Given the description of an element on the screen output the (x, y) to click on. 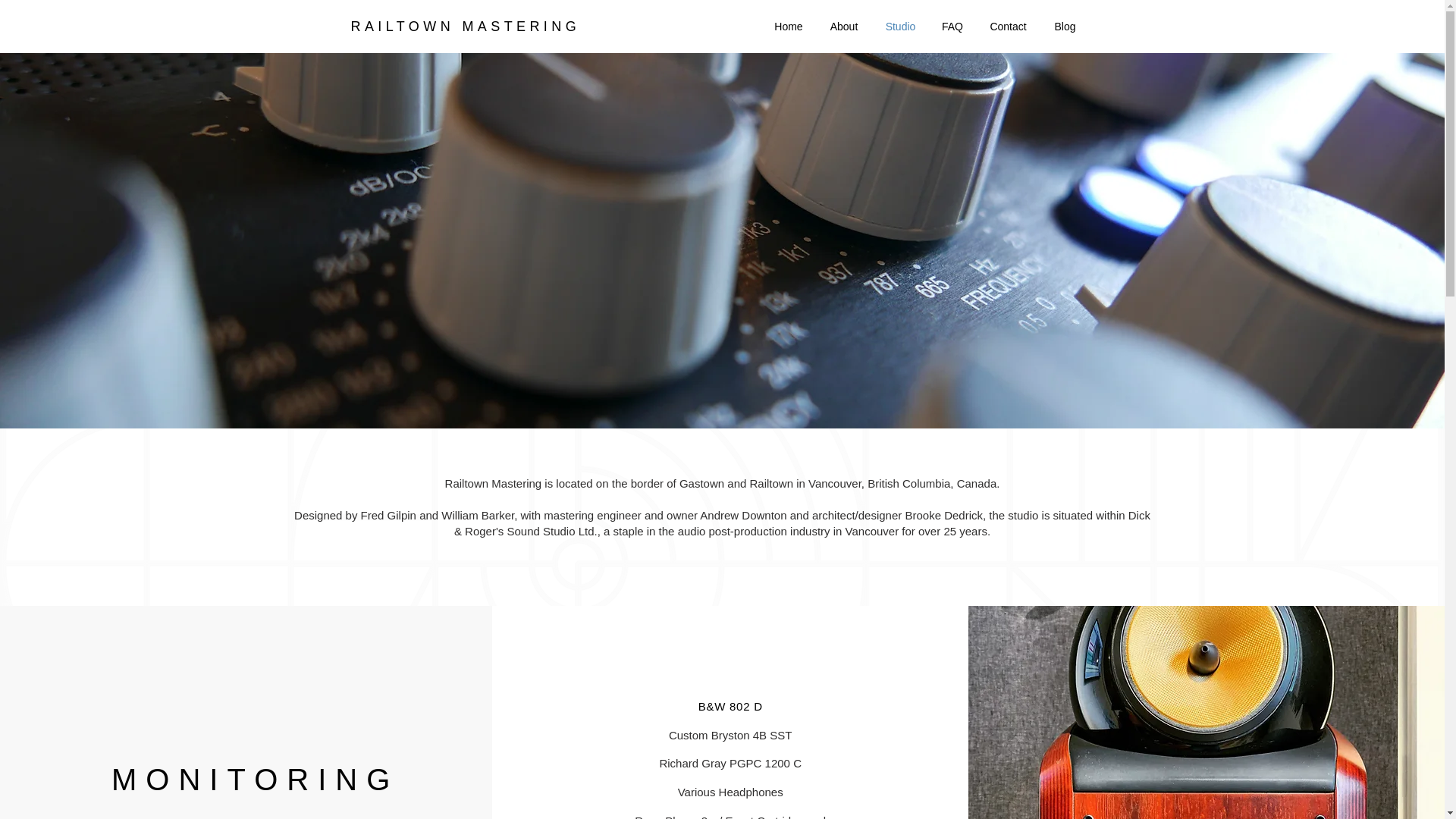
RAILTOWN MASTERING (464, 26)
FAQ (952, 25)
Blog (1065, 25)
Studio (901, 25)
About (842, 25)
Home (788, 25)
Contact (1008, 25)
